Given the description of an element on the screen output the (x, y) to click on. 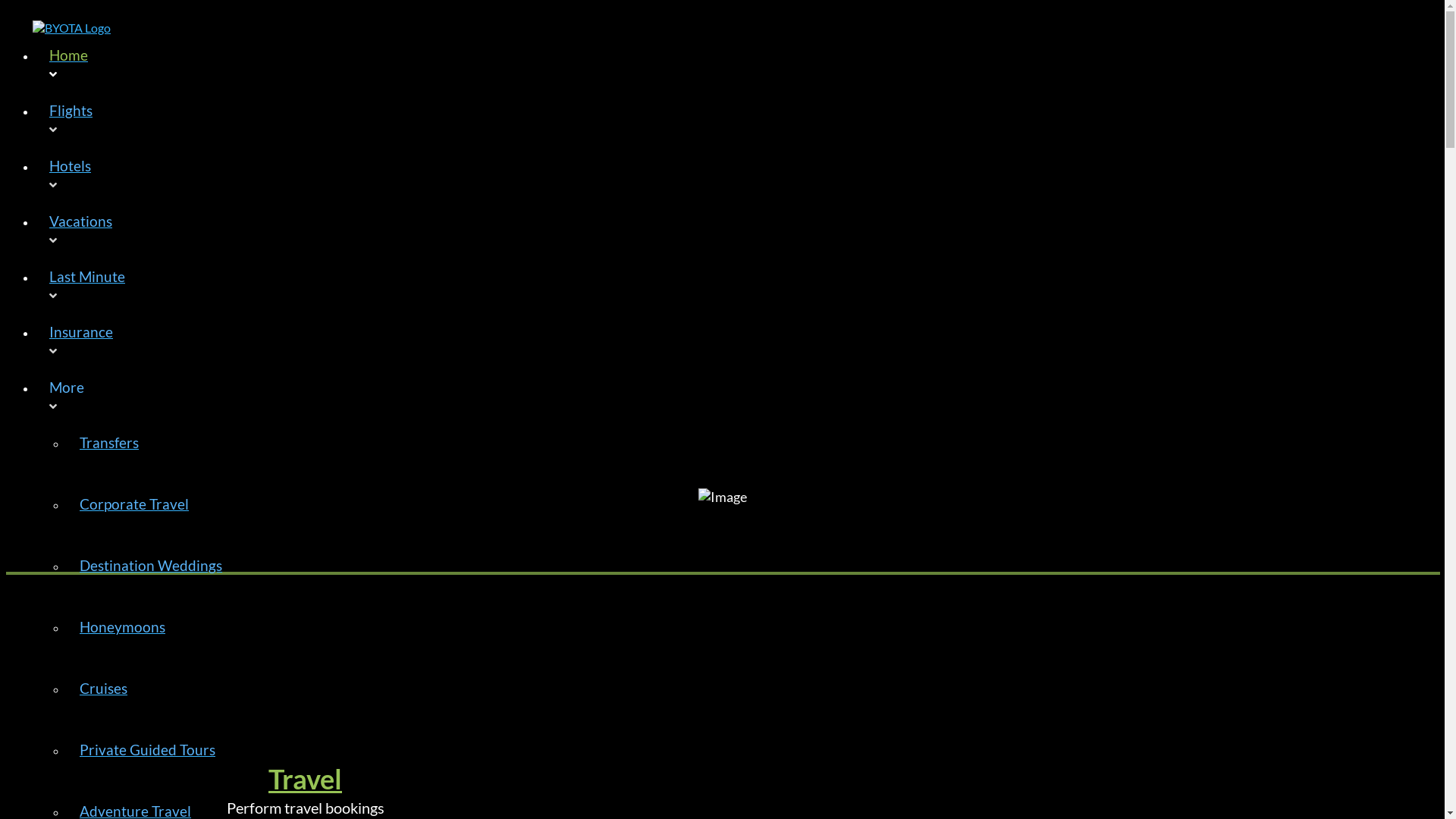
Corporate Travel Element type: text (151, 514)
Transfers Element type: text (151, 452)
Honeymoons Element type: text (151, 637)
Cruises Element type: text (151, 698)
Destination Weddings Element type: text (151, 575)
Home Element type: text (513, 62)
Travel Element type: text (305, 778)
More Element type: text (513, 394)
Hotels Element type: text (513, 172)
Last Minute Element type: text (513, 283)
Vacations Element type: text (513, 228)
Private Guided Tours Element type: text (151, 759)
Insurance Element type: text (513, 339)
Flights Element type: text (513, 117)
